Given the description of an element on the screen output the (x, y) to click on. 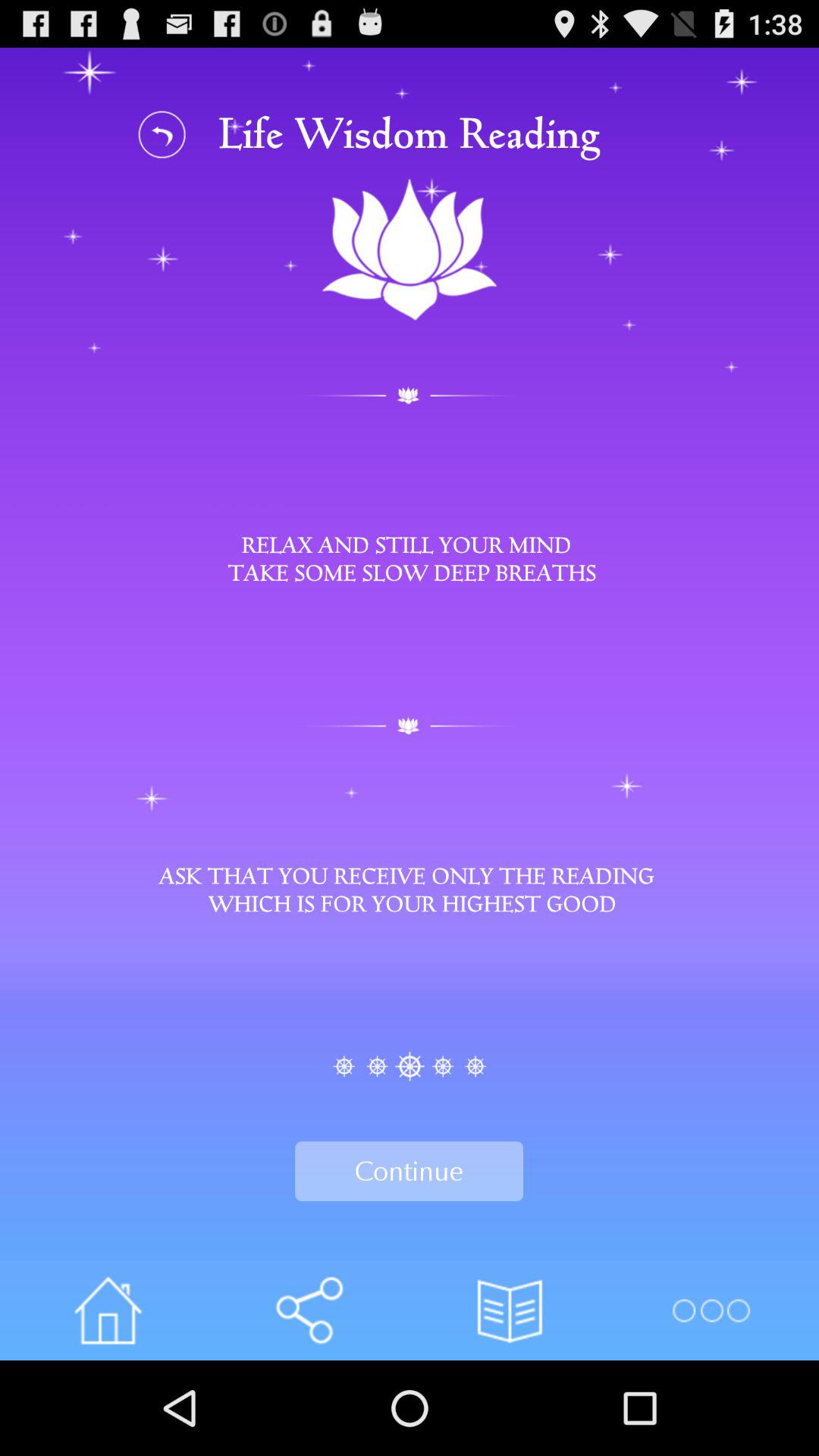
open options menu (710, 1310)
